Given the description of an element on the screen output the (x, y) to click on. 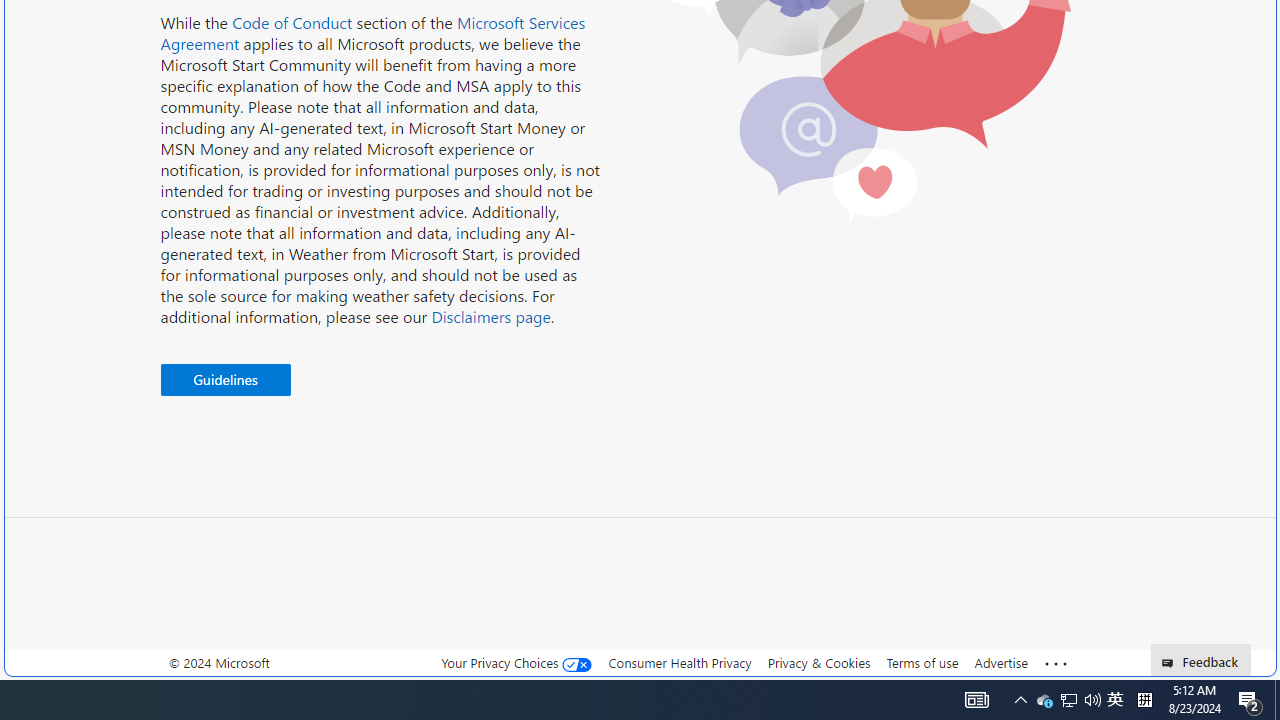
Consumer Health Privacy (680, 663)
Code of Conduct (292, 22)
Your Privacy Choices (516, 663)
